Given the description of an element on the screen output the (x, y) to click on. 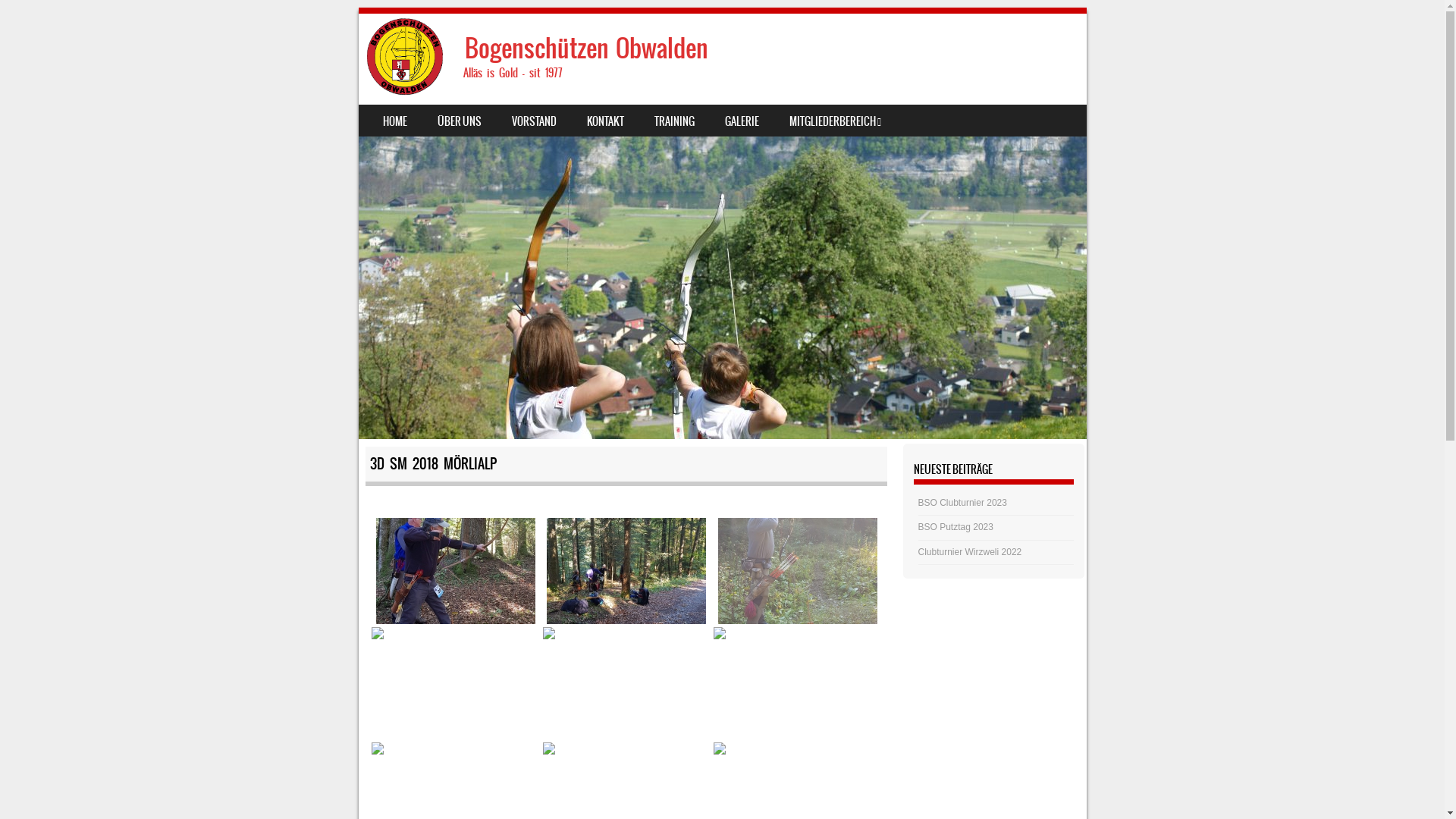
20180930_111300 Element type: hover (626, 570)
TRAINING Element type: text (673, 120)
VORSTAND Element type: text (533, 120)
20180930_115337 Element type: hover (626, 683)
20180930_111207 Element type: hover (455, 570)
20180930_112426 Element type: hover (797, 570)
20180930_115420 Element type: hover (797, 683)
BSO Clubturnier 2023 Element type: text (962, 502)
KONTAKT Element type: text (605, 120)
SKIP TO CONTENT Element type: text (393, 114)
20180930_112954 Element type: hover (455, 683)
BSO Putztag 2023 Element type: text (955, 526)
HOME Element type: text (394, 120)
Clubturnier Wirzweli 2022 Element type: text (970, 551)
GALERIE Element type: text (741, 120)
